Given the description of an element on the screen output the (x, y) to click on. 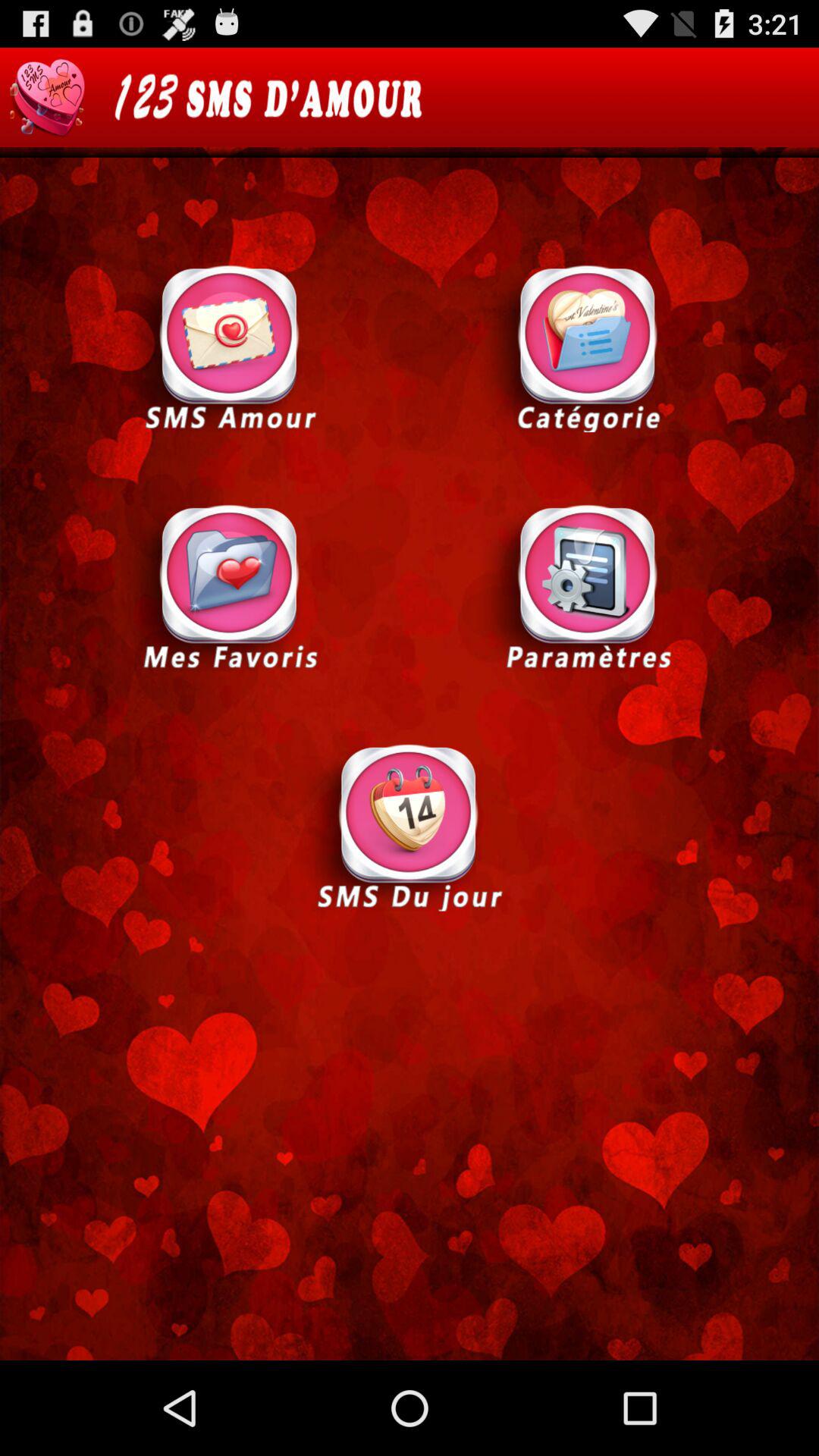
parametres (587, 586)
